Given the description of an element on the screen output the (x, y) to click on. 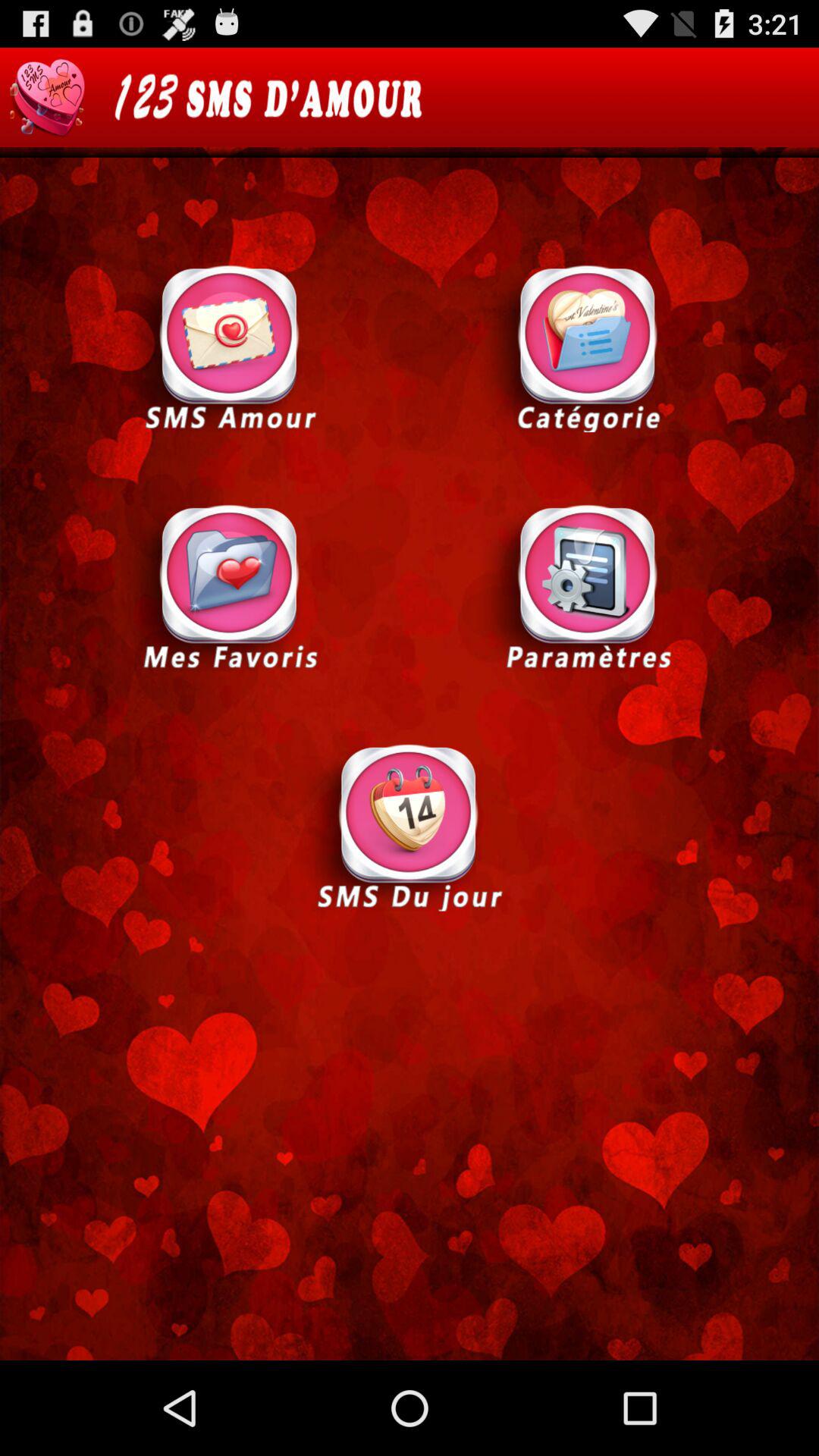
parametres (587, 586)
